Given the description of an element on the screen output the (x, y) to click on. 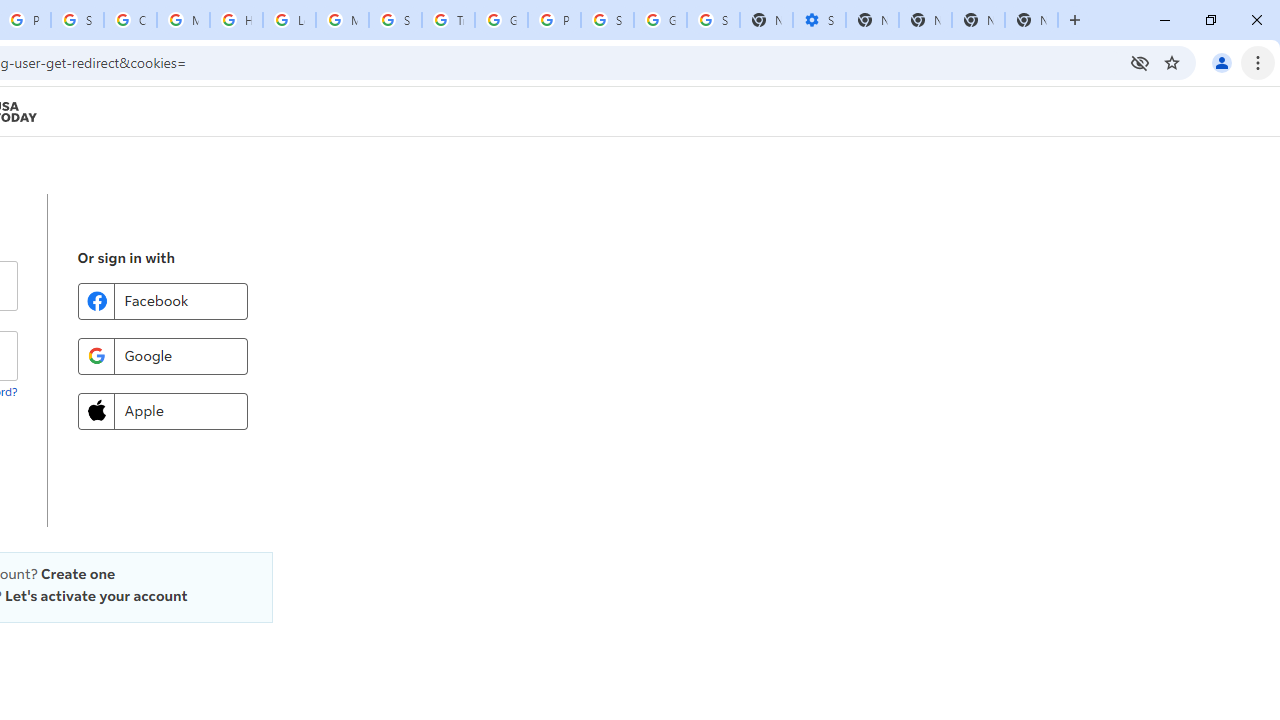
Google Cybersecurity Innovations - Google Safety Center (660, 20)
Sign in - Google Accounts (713, 20)
Trusted Information and Content - Google Safety Center (448, 20)
Facebook (162, 300)
